Given the description of an element on the screen output the (x, y) to click on. 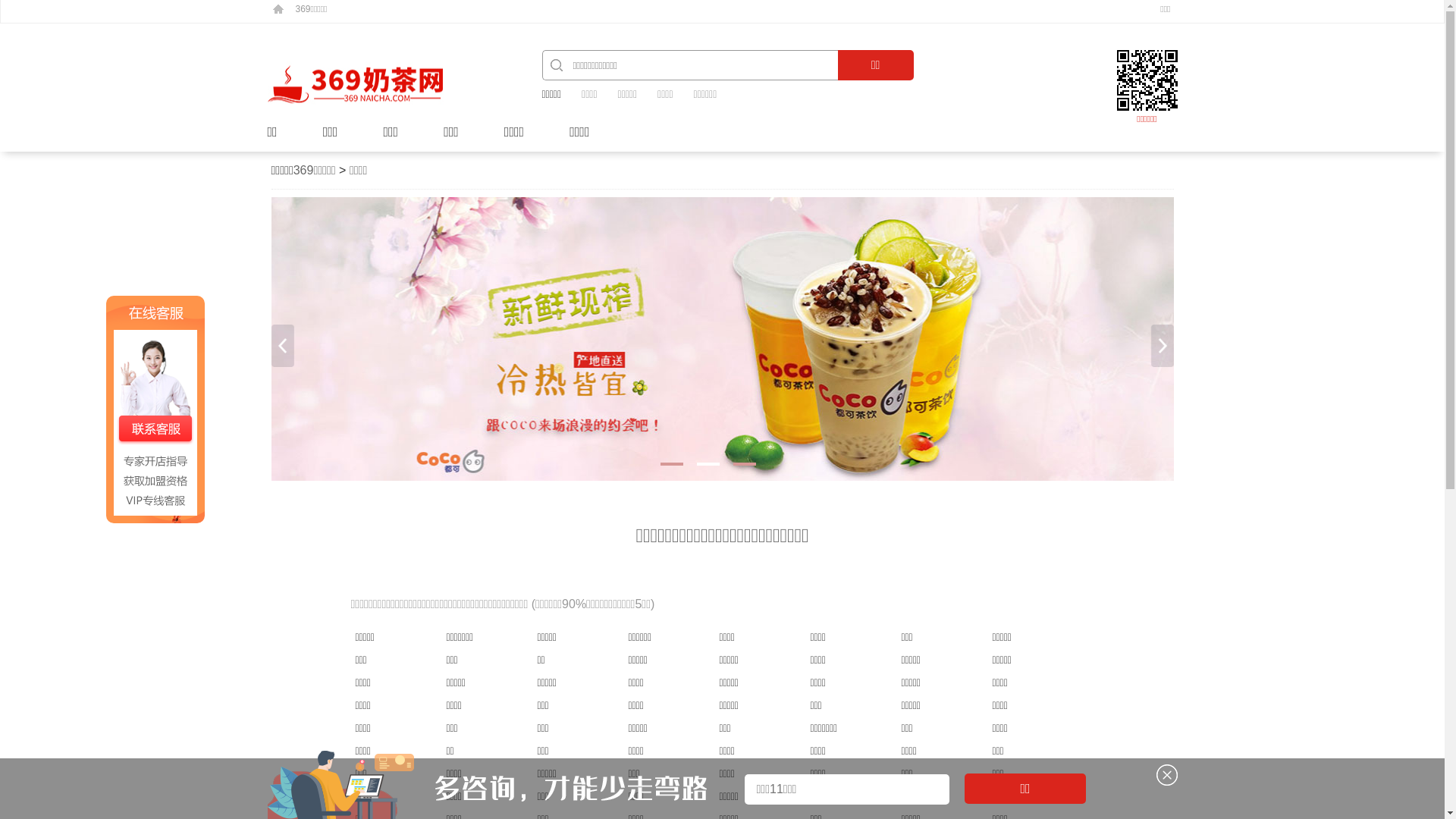
http://m.369naicha.com/liuyan/ Element type: hover (1146, 80)
